Given the description of an element on the screen output the (x, y) to click on. 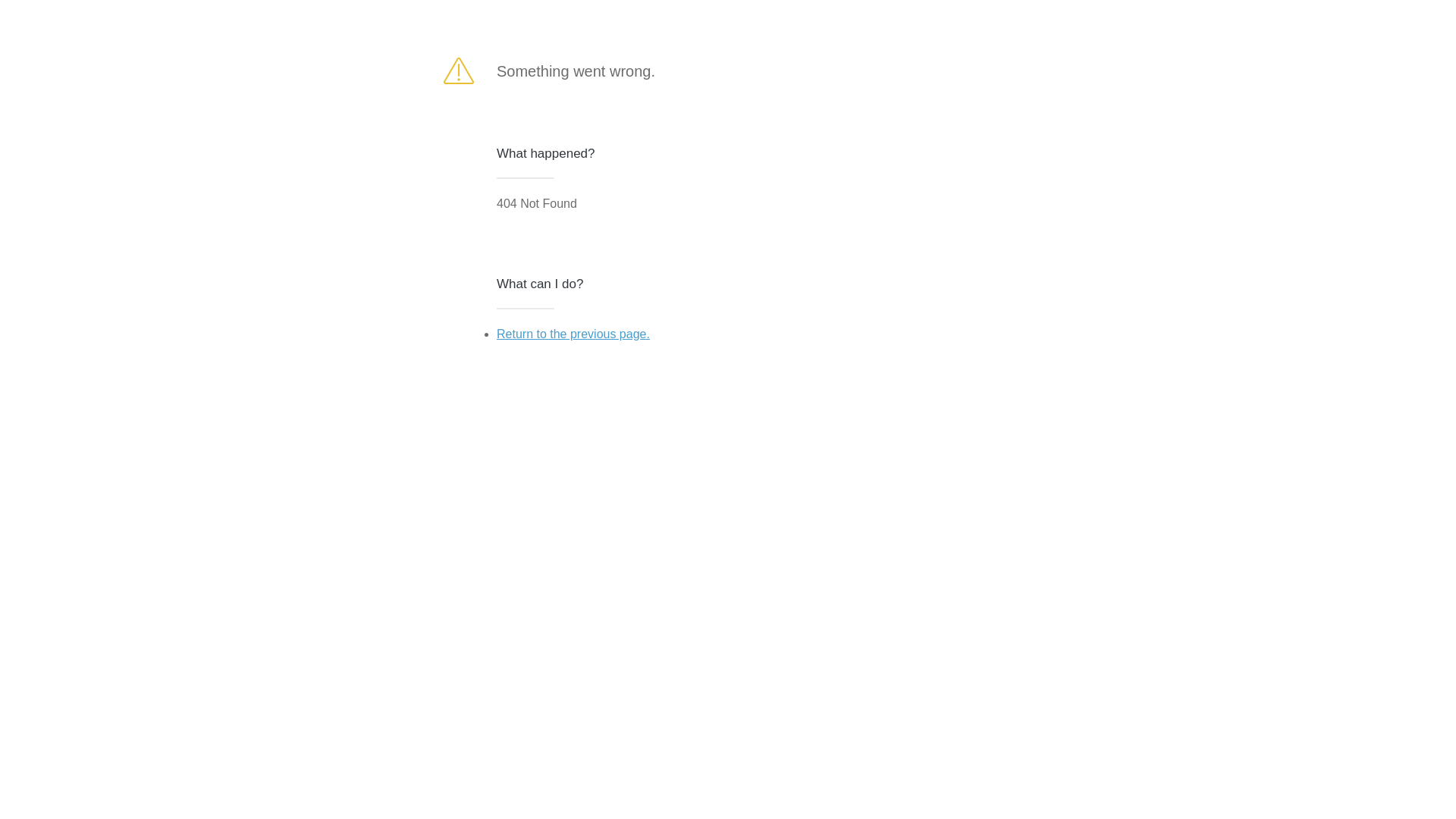
Return to the previous page. Element type: text (572, 333)
